Given the description of an element on the screen output the (x, y) to click on. 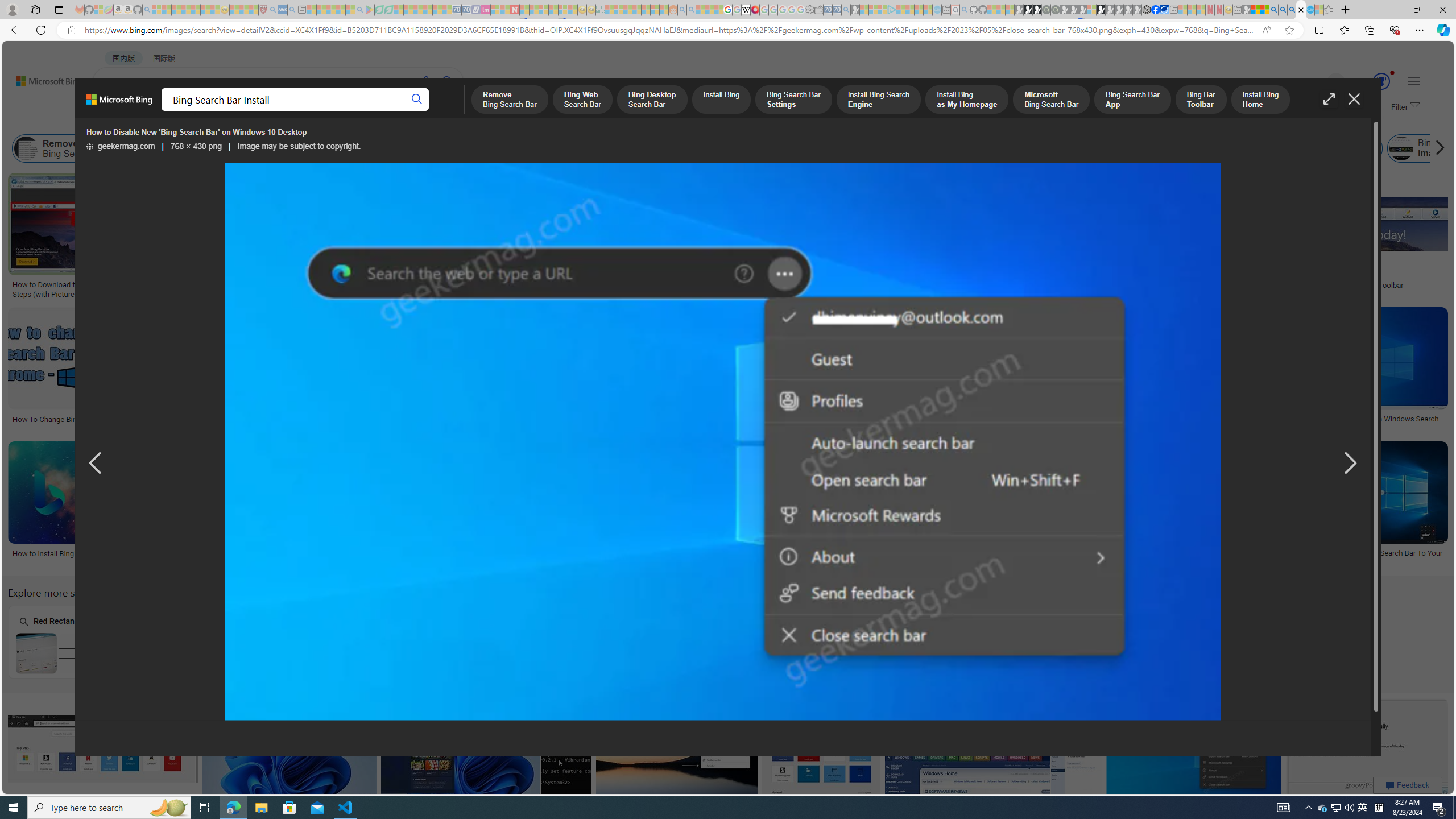
DICT (407, 111)
Previous image result (95, 463)
How to install Bing! (44, 552)
Bing Search Bar Install - Search Images (1300, 9)
Bing Search Bar On Home Screen (515, 652)
Animation (1392, 72)
How to install Bing with ChatGPT as an app on Windows 11 (1170, 418)
Microsoft Bing, Back to Bing search (118, 104)
2:44 (572, 317)
